Given the description of an element on the screen output the (x, y) to click on. 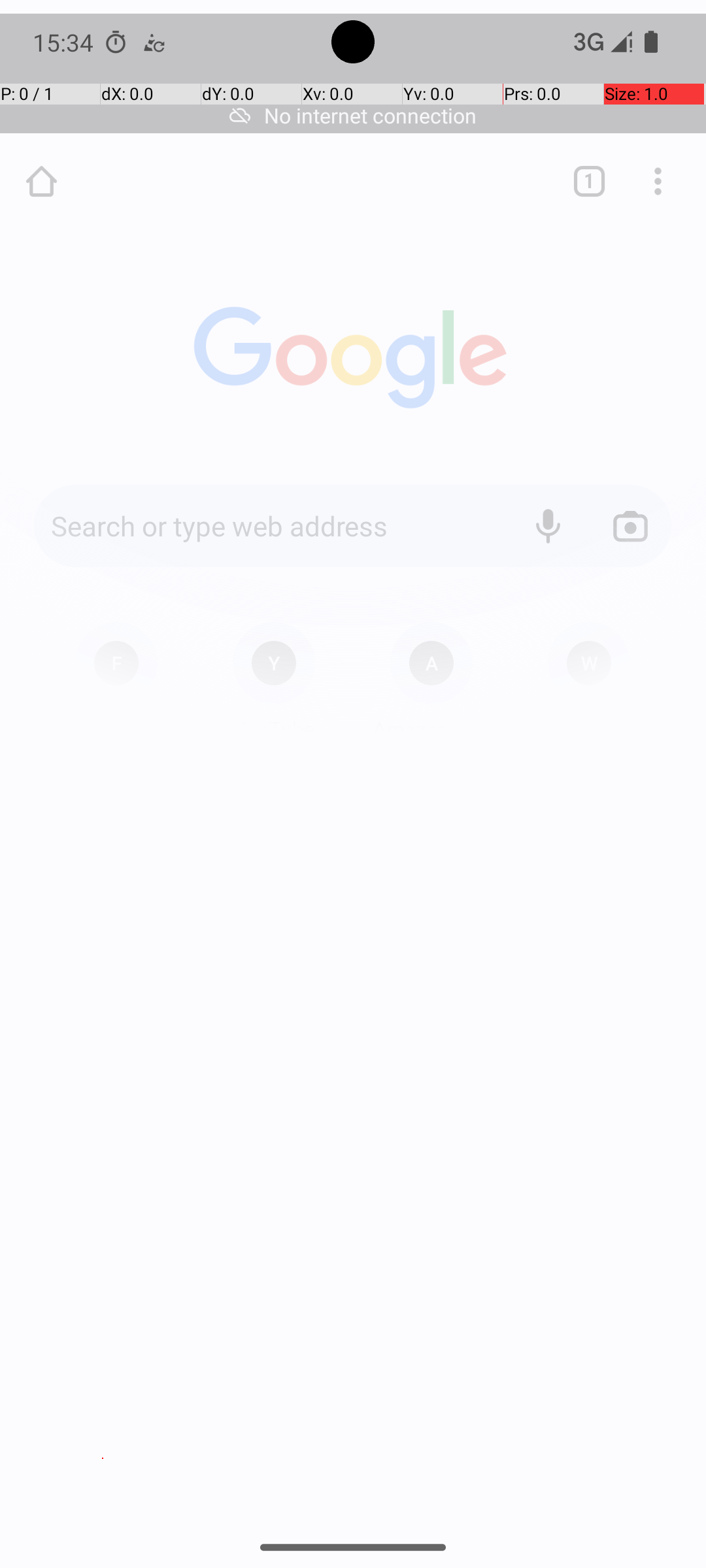
Can't refresh Discover Element type: android.widget.TextView (352, 1047)
Check back later for new stories Element type: android.widget.TextView (352, 1089)
